Given the description of an element on the screen output the (x, y) to click on. 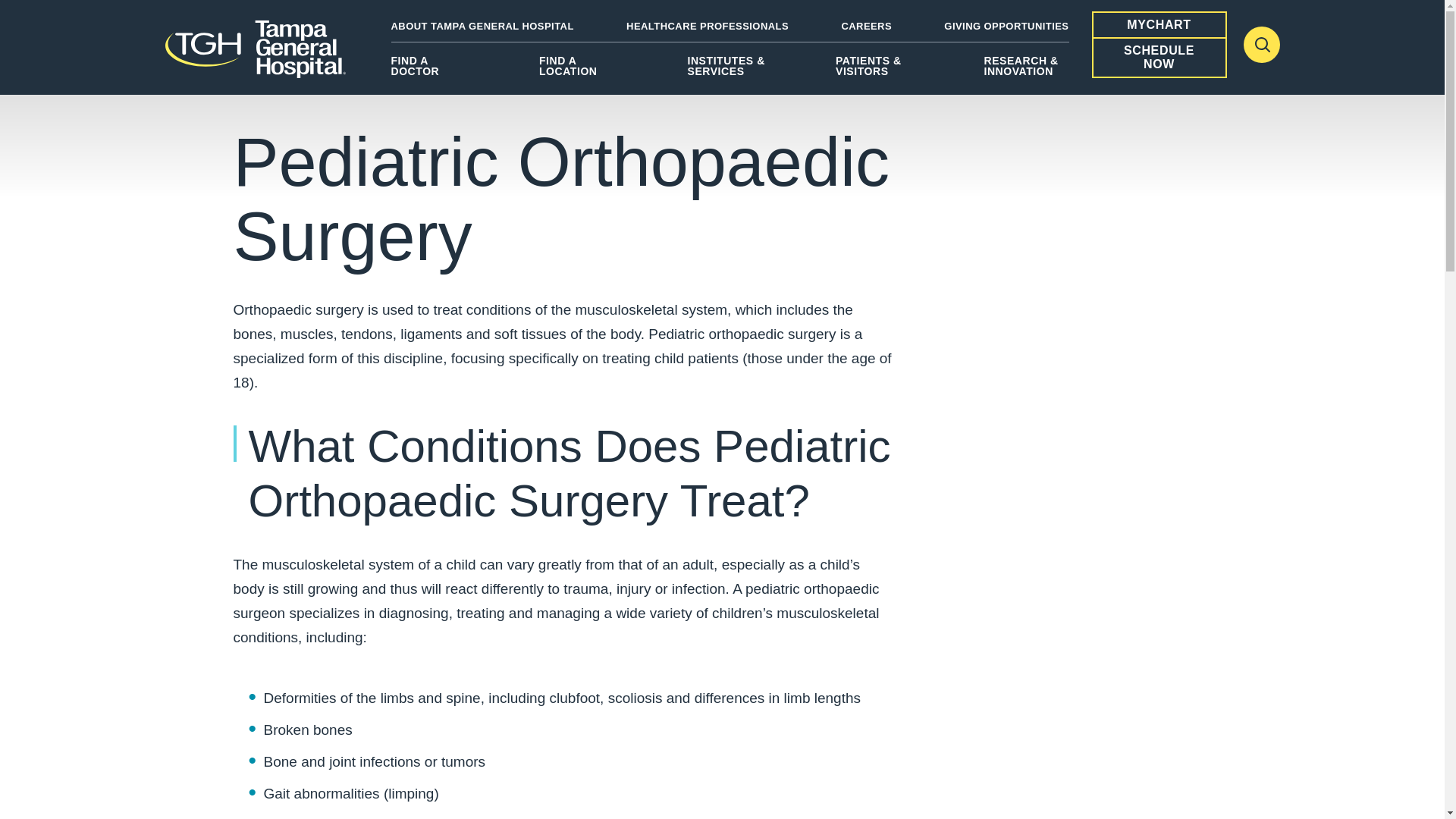
FIND A LOCATION (581, 71)
ABOUT TAMPA GENERAL HOSPITAL (482, 25)
Toggle Main Search (1261, 44)
CAREERS (866, 25)
SCHEDULE NOW (1159, 57)
GIVING OPPORTUNITIES (1005, 25)
MYCHART (1159, 24)
FIND A DOCTOR (433, 71)
HEALTHCARE PROFESSIONALS (707, 25)
